Given the description of an element on the screen output the (x, y) to click on. 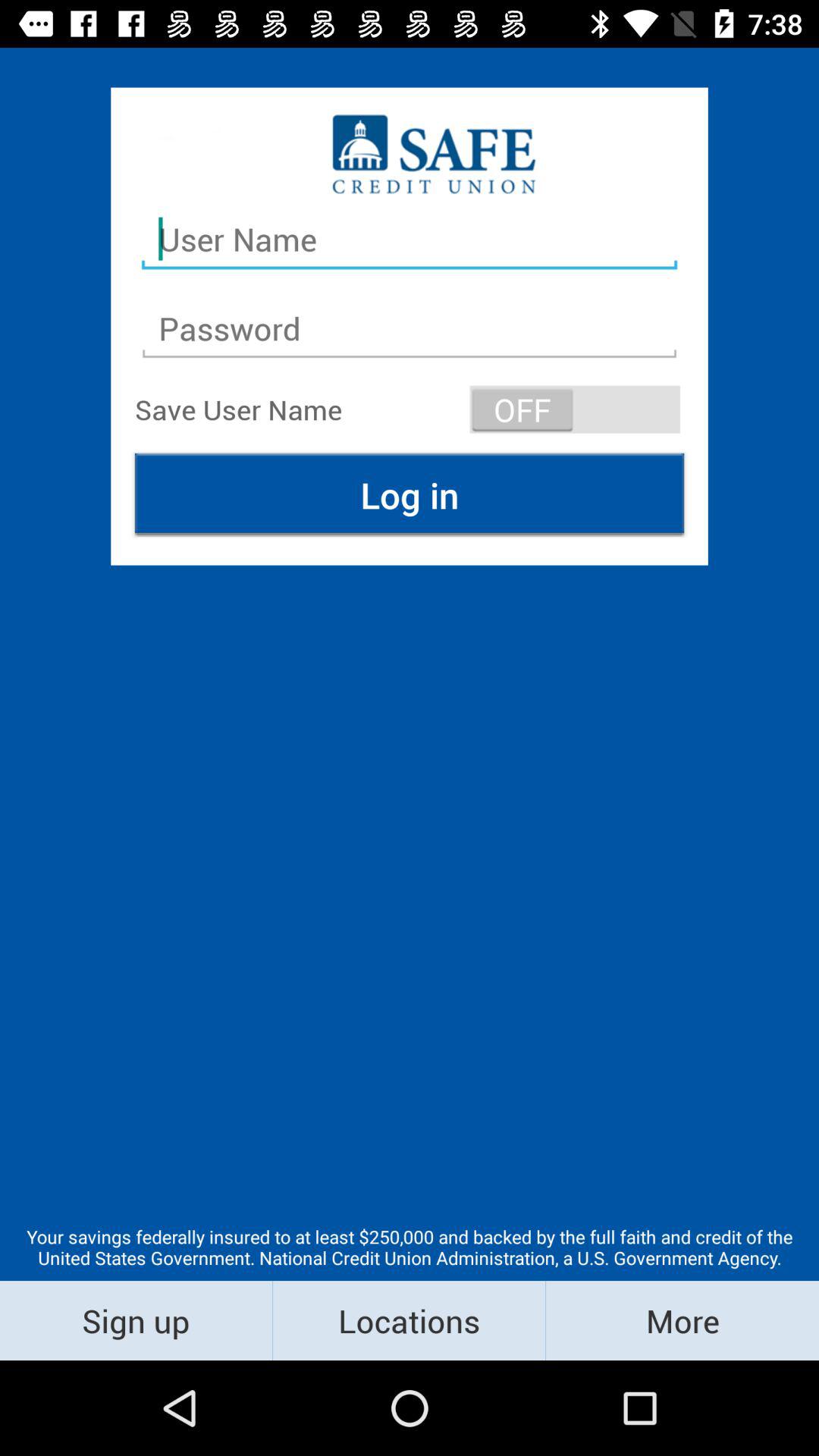
turn off the item below your savings federally item (682, 1320)
